Given the description of an element on the screen output the (x, y) to click on. 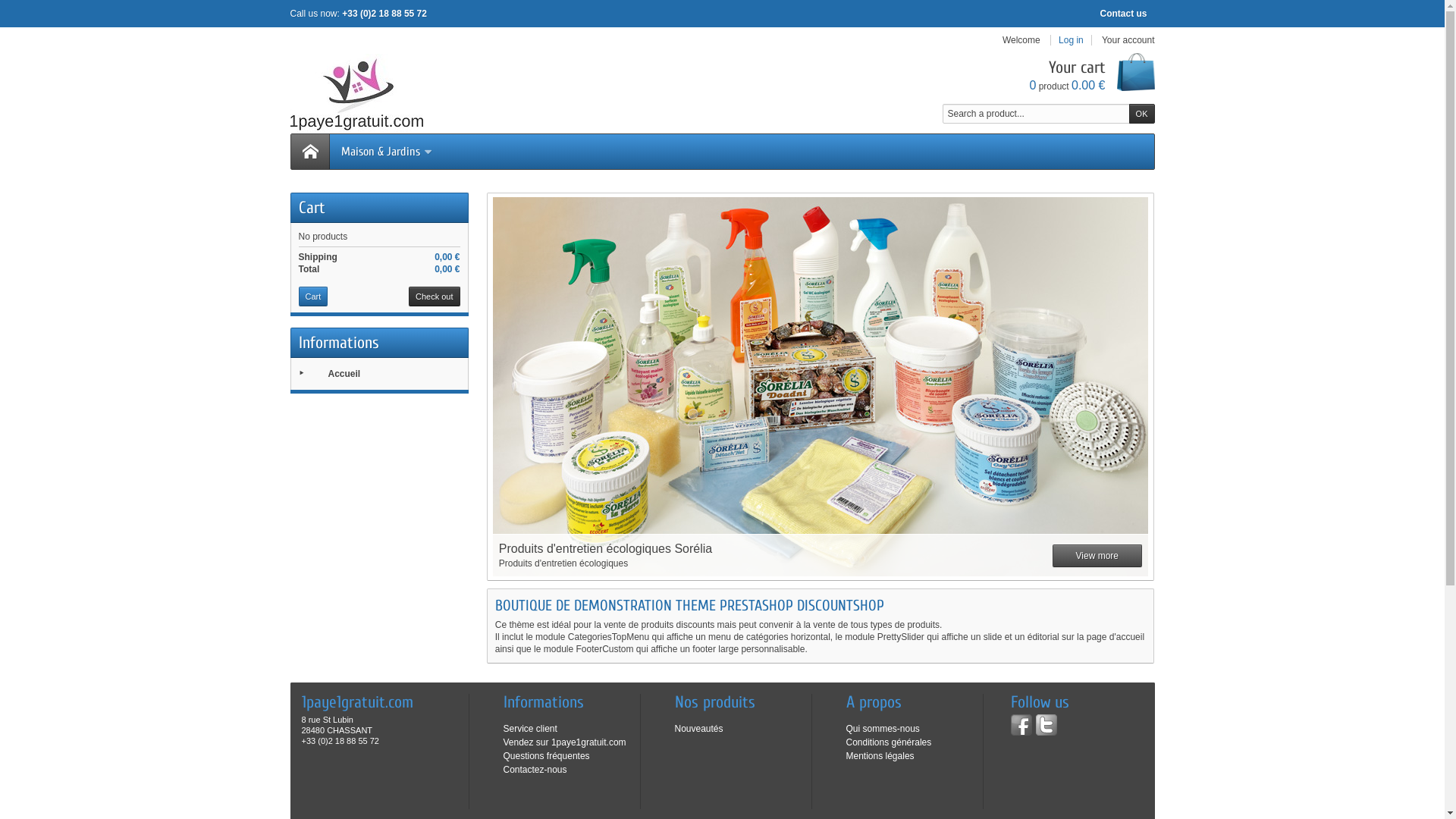
Maison & Jardins Element type: text (383, 151)
1paye1gratuit Element type: hover (355, 92)
Your account Element type: text (1127, 39)
Check out Element type: text (434, 296)
Cart Element type: text (311, 207)
View more Element type: text (1097, 555)
Vendez sur 1paye1gratuit.com Element type: text (564, 742)
Cart Element type: text (313, 296)
Home Element type: hover (310, 151)
Service client Element type: text (530, 728)
Informations Element type: text (338, 342)
Twitter Element type: hover (1046, 724)
Facebook Element type: hover (1020, 724)
Log in Element type: text (1071, 39)
Qui sommes-nous Element type: text (882, 728)
Accueil Element type: text (343, 373)
OK Element type: text (1141, 113)
Contactez-nous Element type: text (535, 769)
Contact us Element type: text (1123, 13)
